Given the description of an element on the screen output the (x, y) to click on. 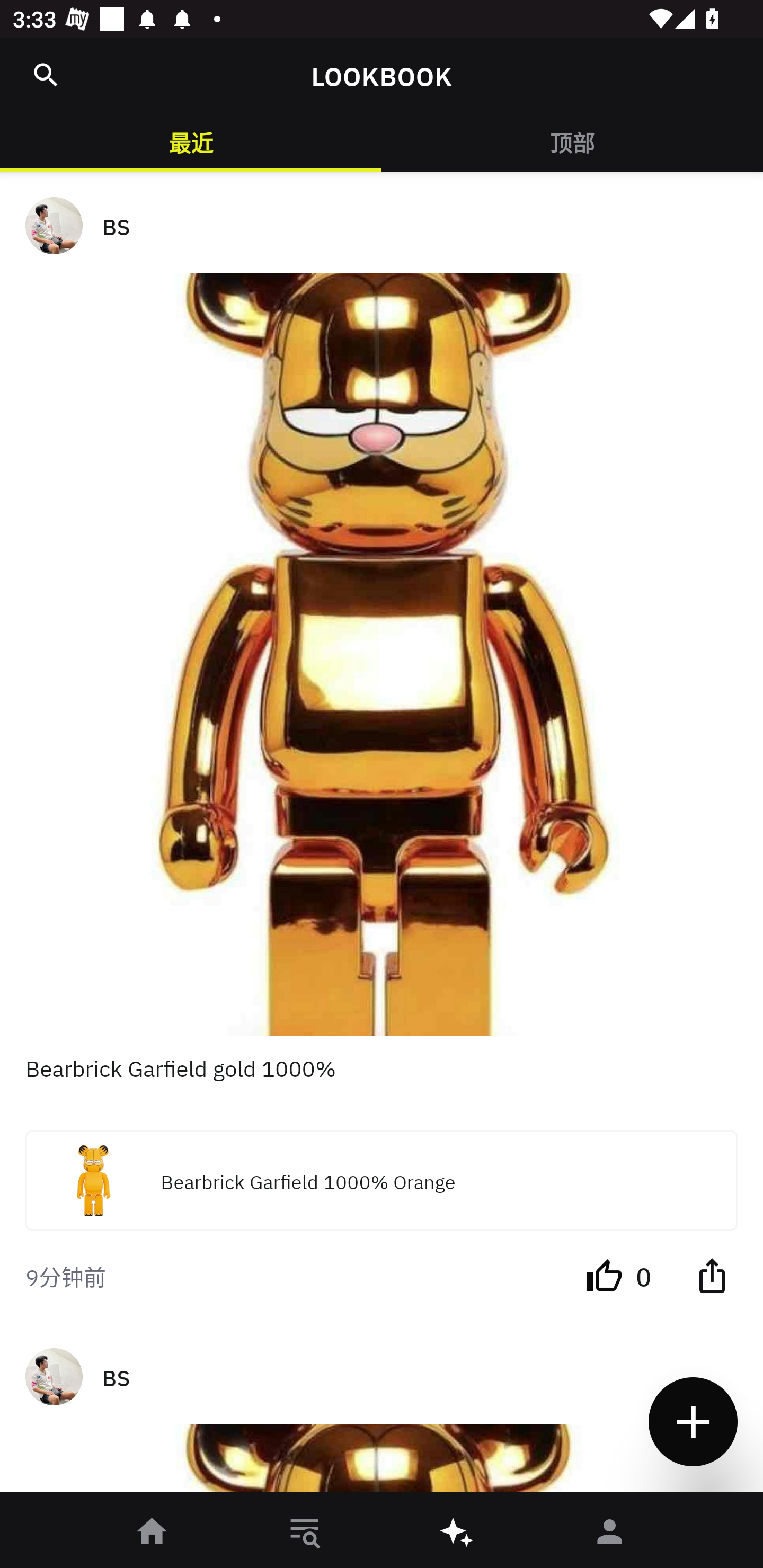
 (45, 74)
最近 (190, 140)
顶部 (572, 140)
Bearbrick Garfield gold 1000%
 (381, 1083)
Bearbrick Garfield 1000% Orange (381, 1180)
󰔔 (603, 1274)
 (711, 1274)
󰋜 (152, 1532)
󱎸 (305, 1532)
󰫢 (457, 1532)
󰀄 (610, 1532)
